Given the description of an element on the screen output the (x, y) to click on. 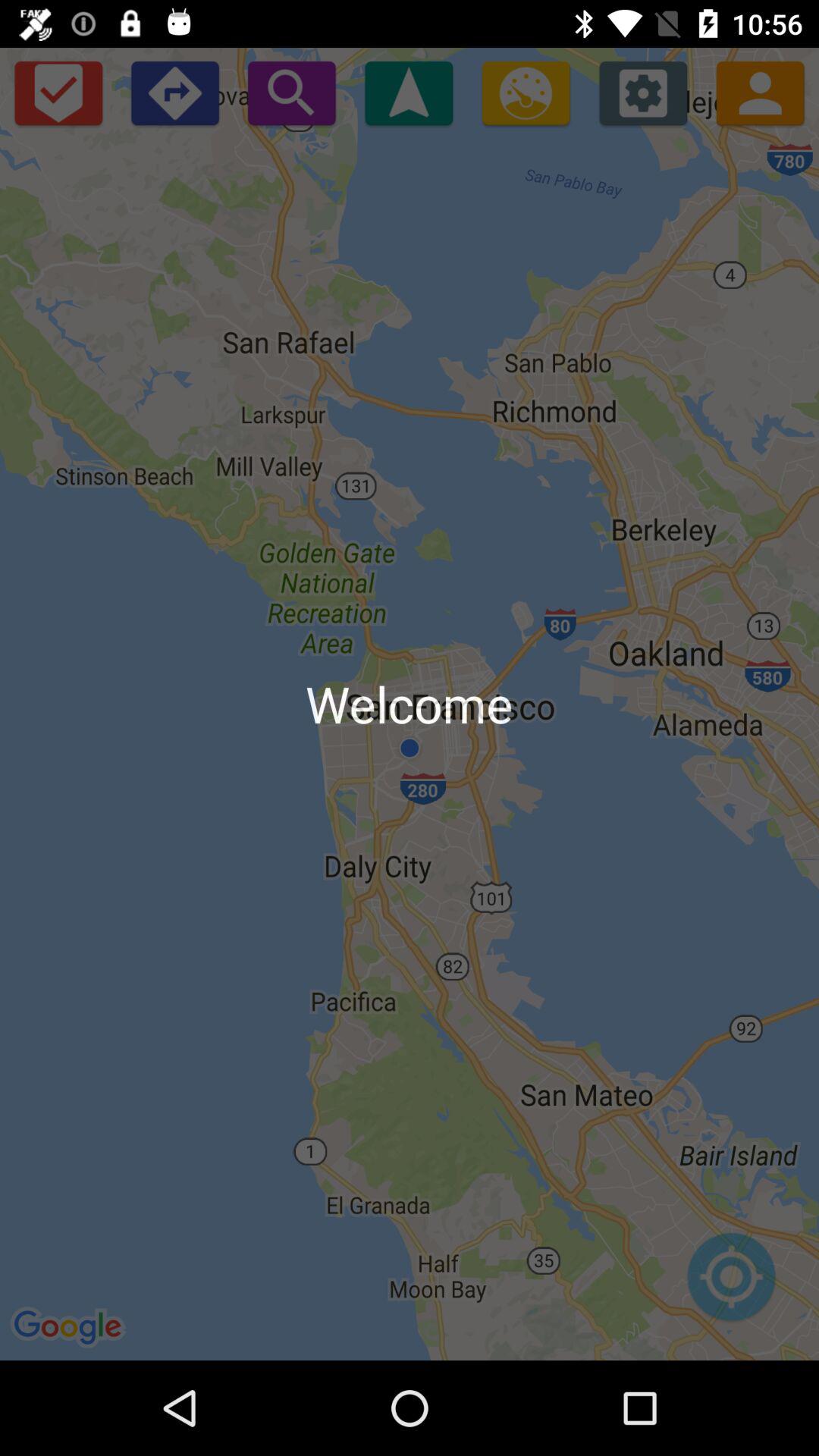
set map locations (731, 1284)
